Given the description of an element on the screen output the (x, y) to click on. 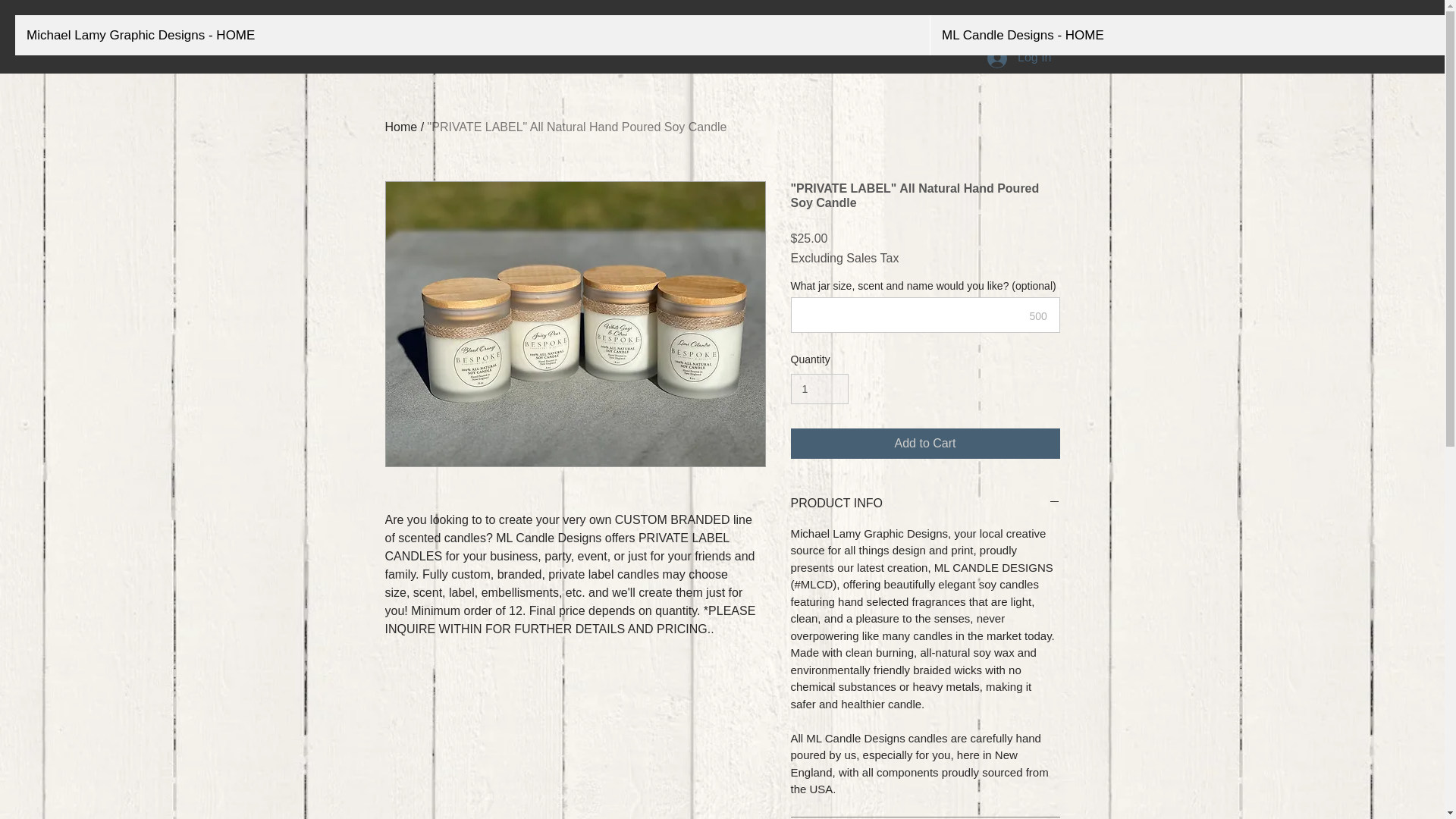
PRODUCT INFO (924, 503)
Log In (1018, 58)
Home (401, 126)
Michael Lamy Graphic Designs - HOME (472, 35)
Add to Cart (924, 443)
"PRIVATE LABEL" All Natural Hand Poured Soy Candle (577, 126)
1 (818, 388)
